Given the description of an element on the screen output the (x, y) to click on. 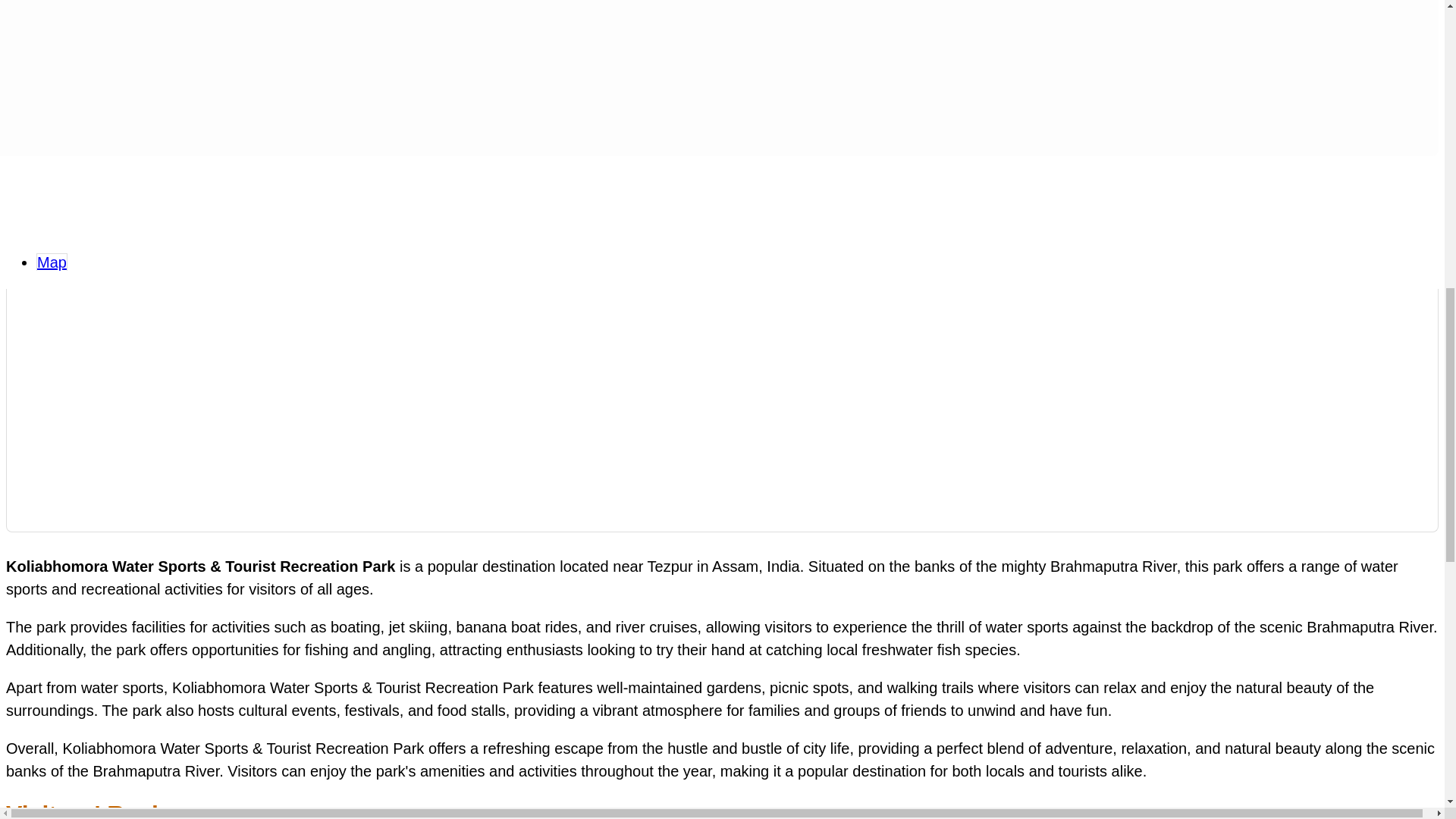
Map (51, 262)
